Given the description of an element on the screen output the (x, y) to click on. 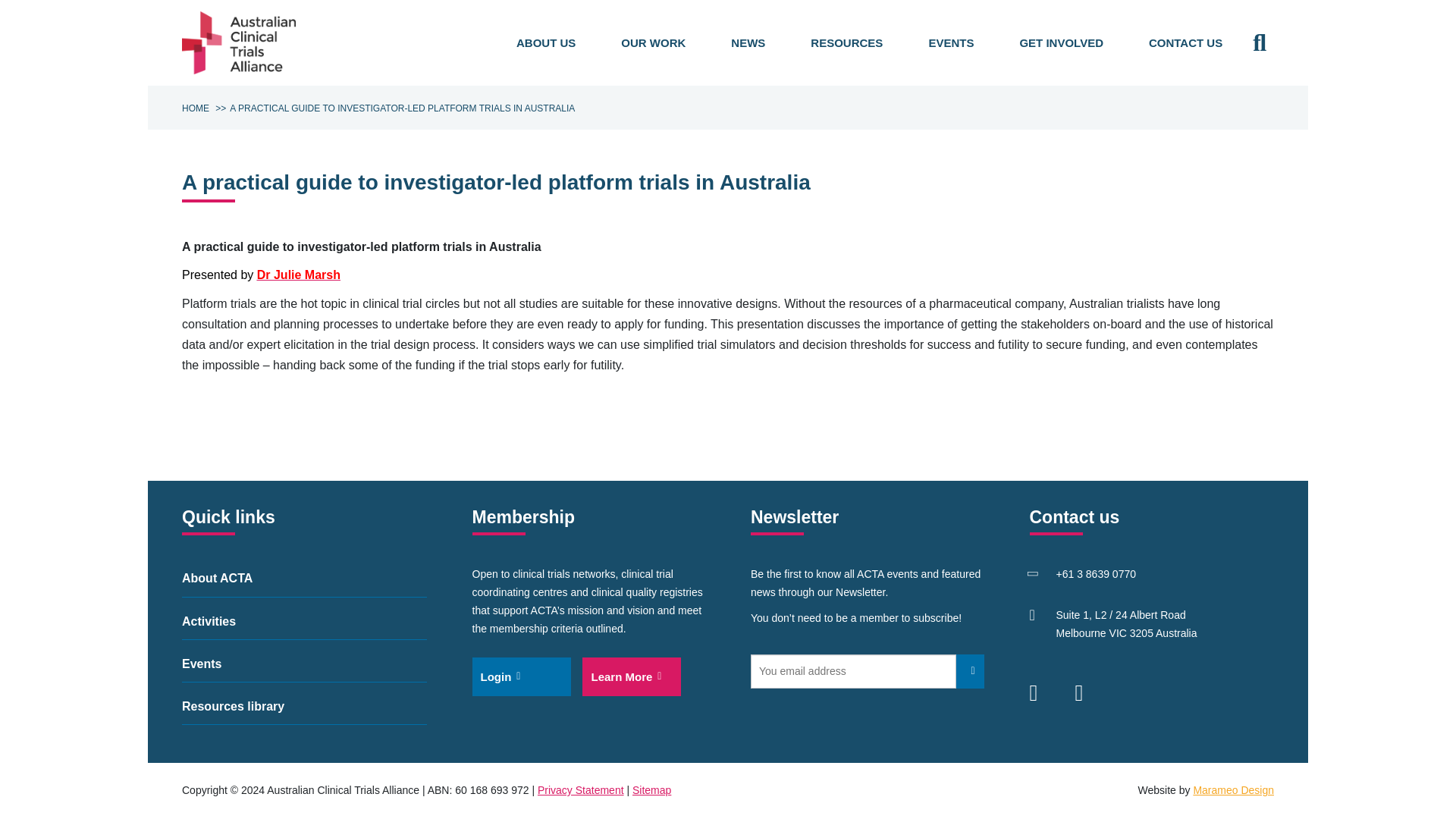
ABOUT US (545, 43)
CONTACT US (1184, 43)
Dr Julie Marsh (298, 274)
EVENTS (950, 43)
RESOURCES (846, 43)
Search form (1259, 42)
NEWS (747, 43)
OUR WORK (652, 43)
GET INVOLVED (1060, 43)
HOME (195, 108)
